Given the description of an element on the screen output the (x, y) to click on. 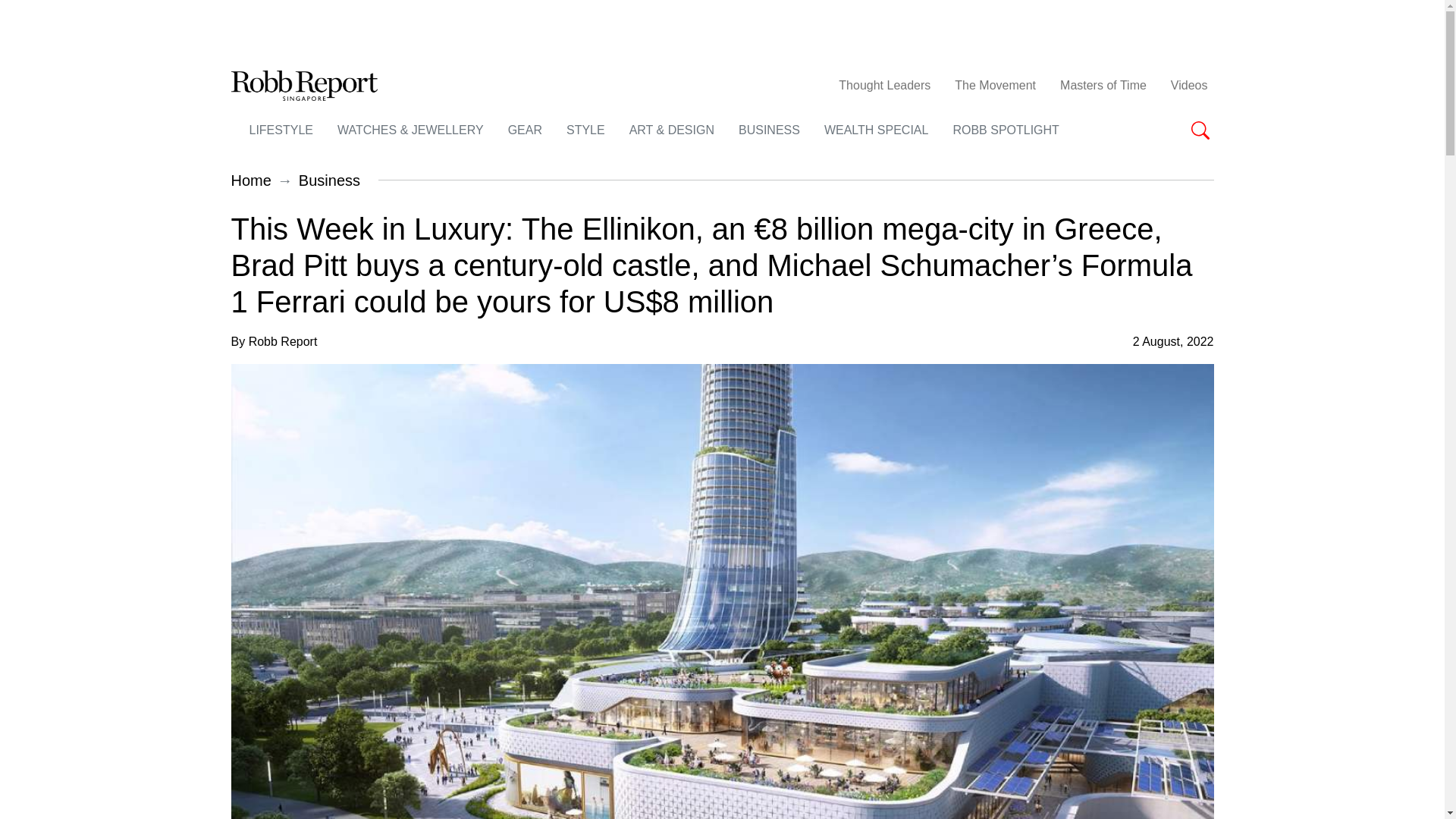
The Movement (995, 85)
Masters of Time (1103, 85)
Thought Leaders (884, 85)
Videos (1189, 85)
